Given the description of an element on the screen output the (x, y) to click on. 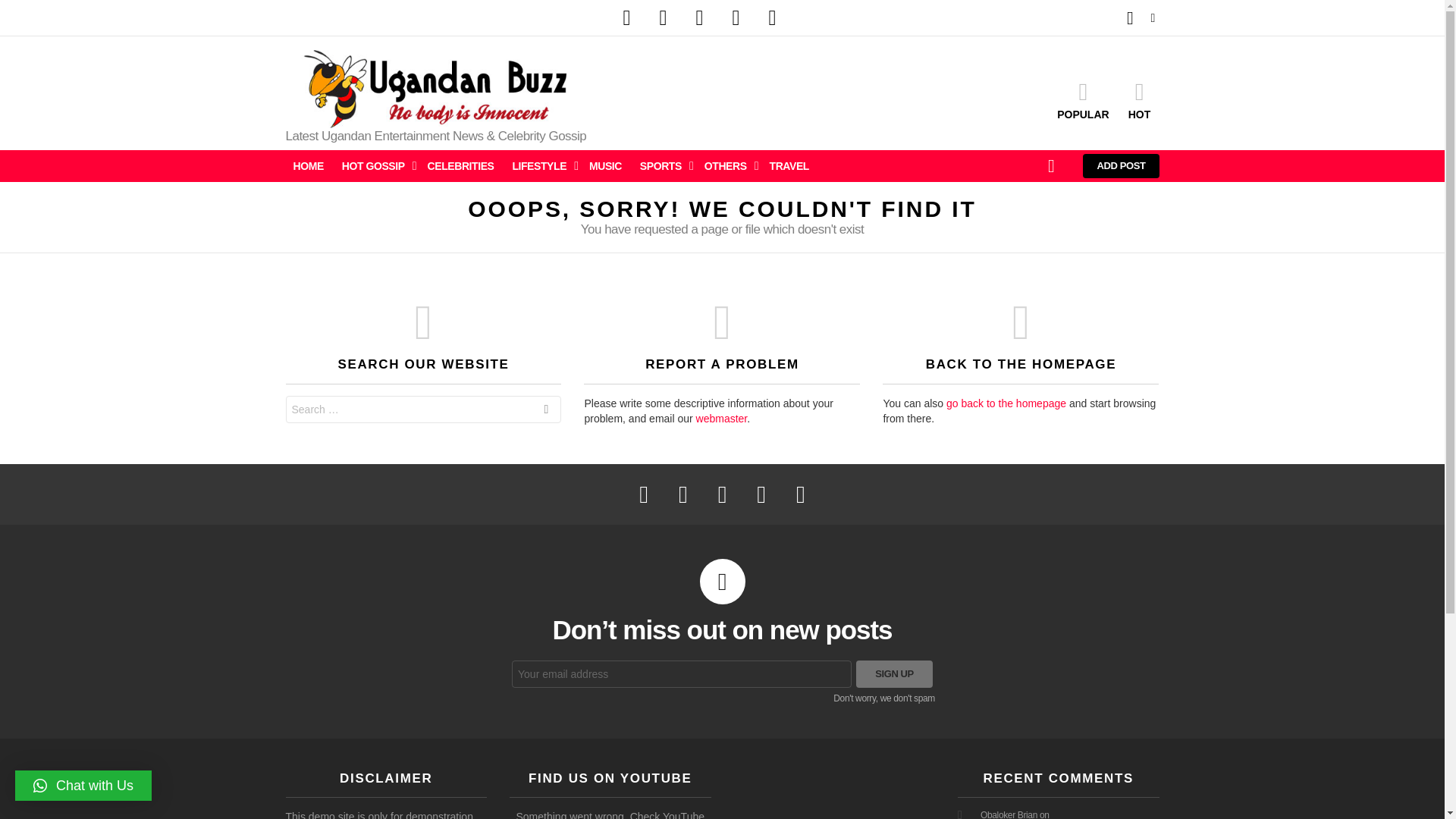
Search for: (422, 409)
pinterest (735, 18)
LIFESTYLE (540, 165)
twitter (663, 18)
OTHERS (727, 165)
SPORTS (662, 165)
MUSIC (604, 165)
HOT (1138, 99)
instagram (699, 18)
POPULAR (1082, 99)
